Given the description of an element on the screen output the (x, y) to click on. 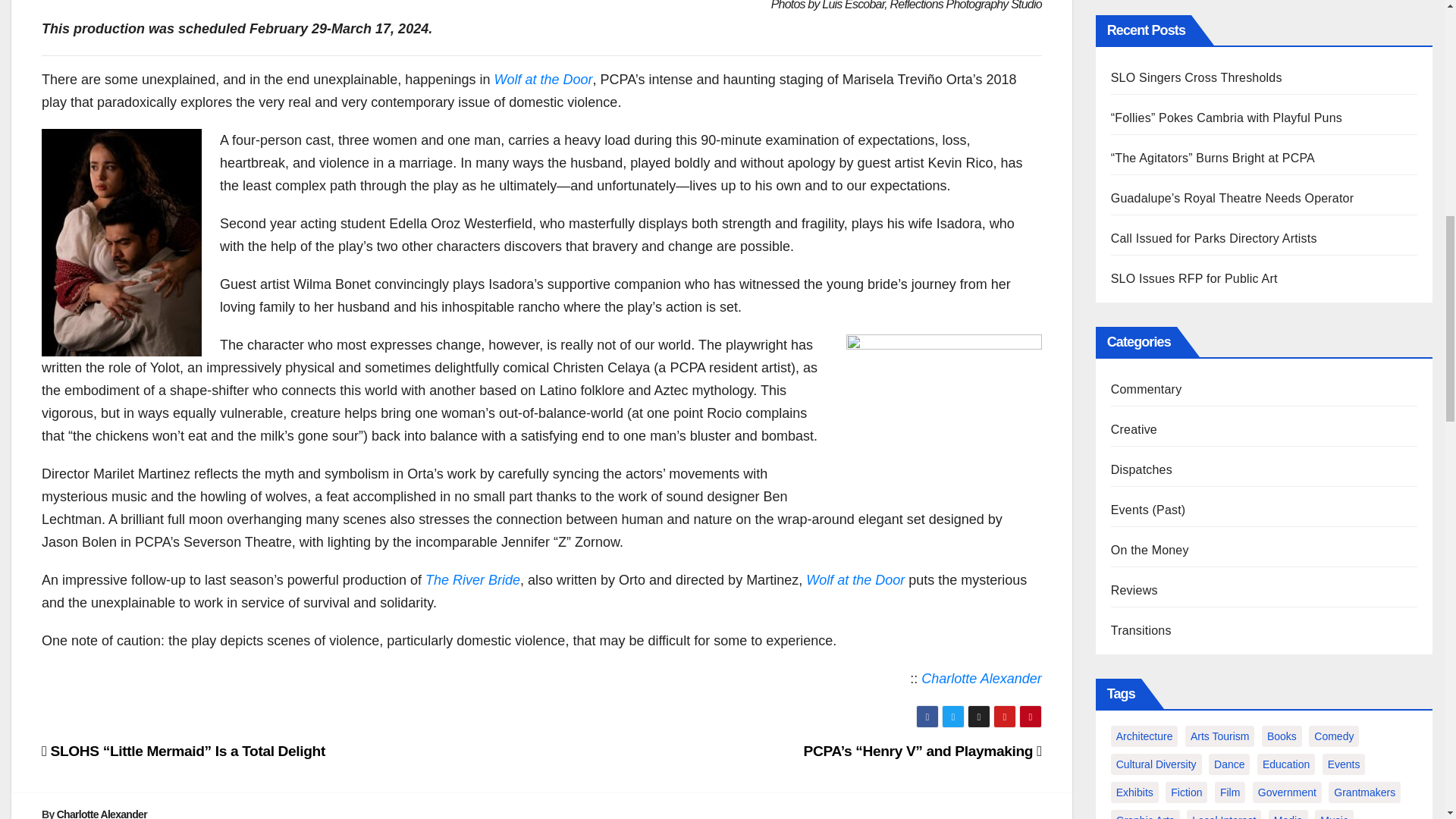
Charlotte Alexander (981, 678)
Wolf at the Door (855, 580)
The River Bride (472, 580)
Wolf at the Door (542, 79)
Charlotte Alexander (101, 813)
